Given the description of an element on the screen output the (x, y) to click on. 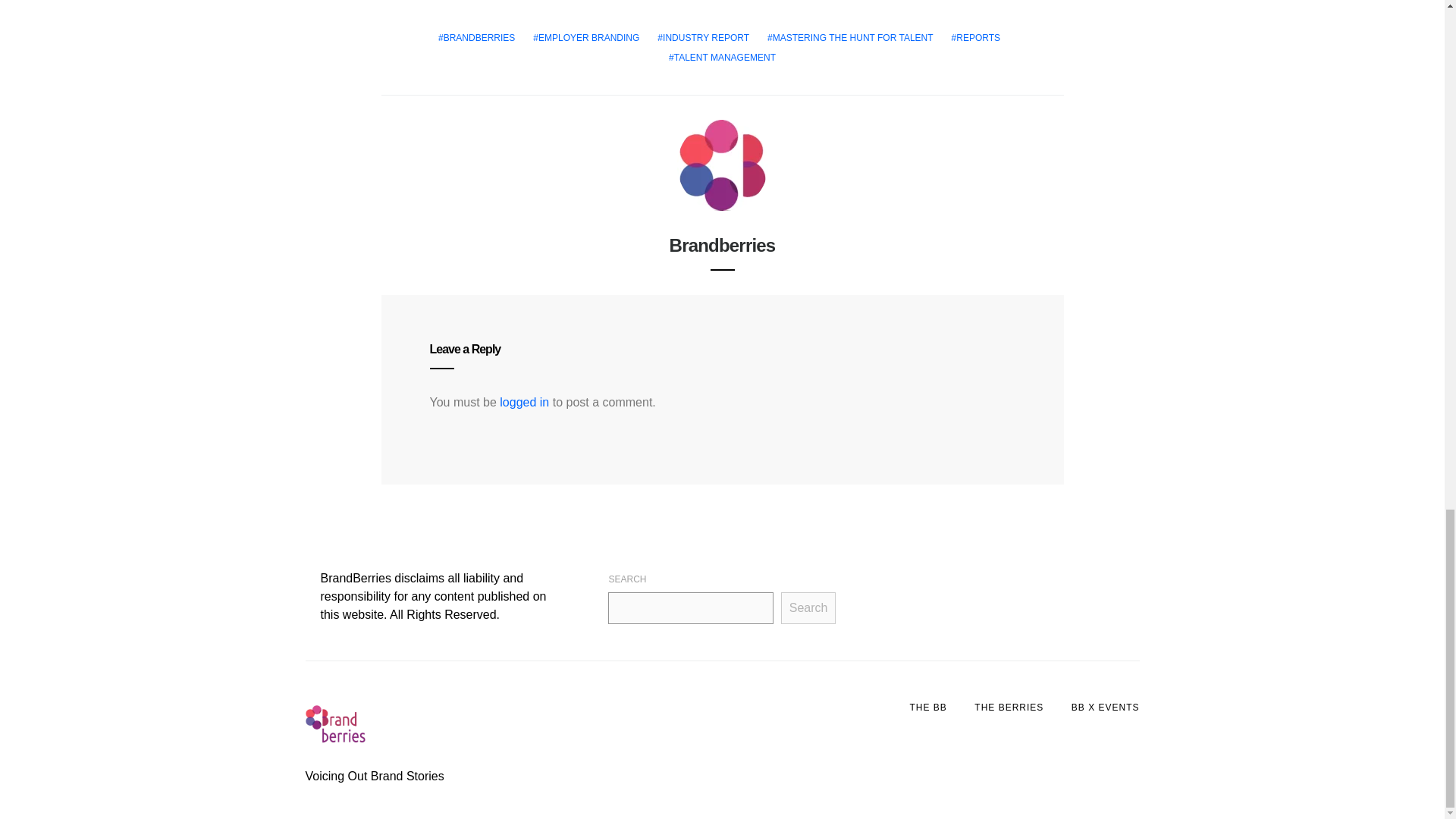
Posts by Brandberries (722, 245)
logged in (523, 401)
INDUSTRY REPORT (702, 38)
EMPLOYER BRANDING (586, 38)
BRANDBERRIES (476, 38)
REPORTS (975, 38)
TALENT MANAGEMENT (721, 57)
MASTERING THE HUNT FOR TALENT (850, 38)
Brandberries (722, 245)
Search (807, 608)
